Given the description of an element on the screen output the (x, y) to click on. 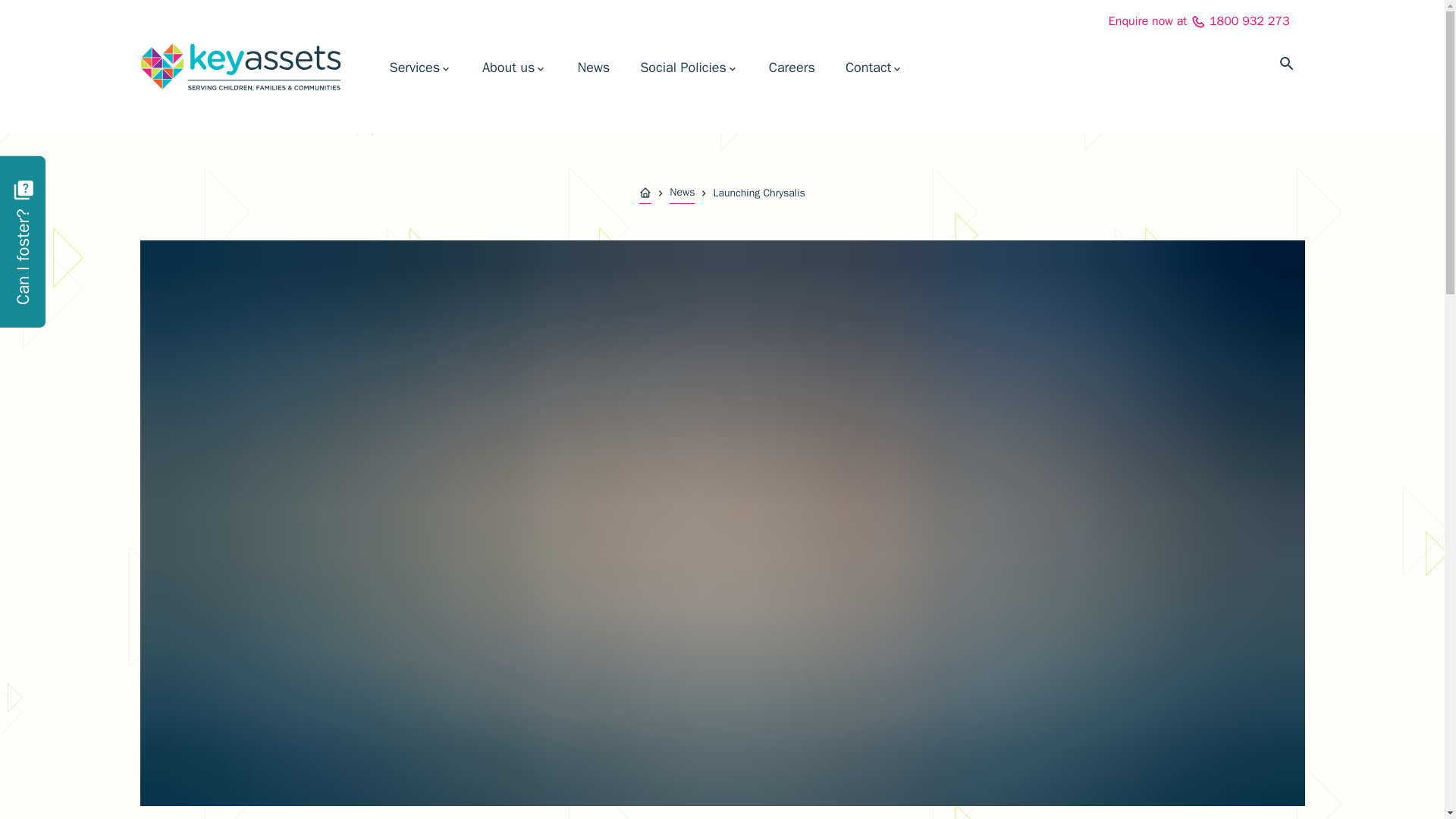
Can I foster? (68, 173)
News (593, 67)
Careers (791, 67)
News (681, 192)
search toggle (1286, 63)
Enquire now at 1800 932 273 (1199, 21)
